Given the description of an element on the screen output the (x, y) to click on. 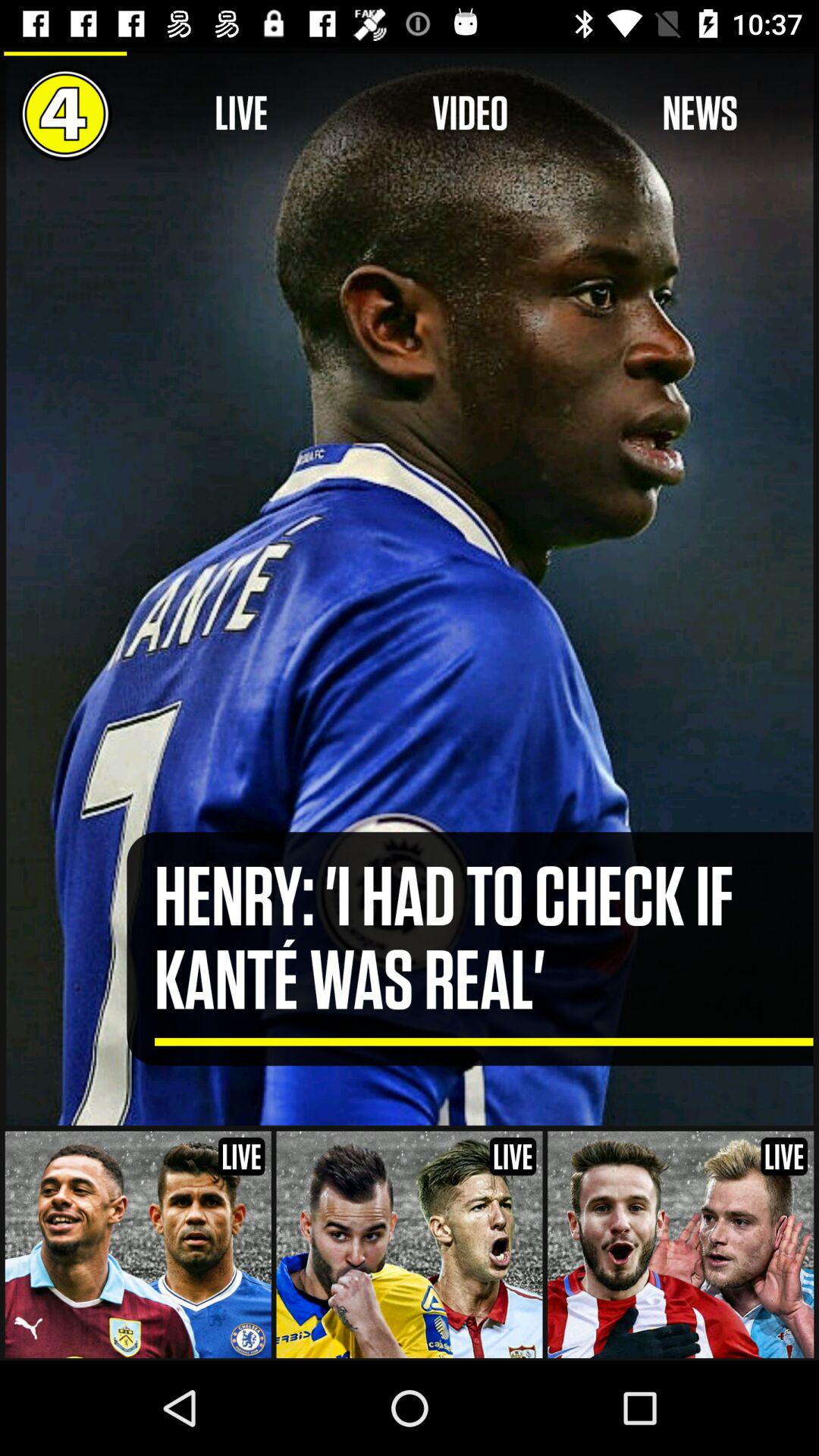
turn off icon to the right of live (470, 113)
